Given the description of an element on the screen output the (x, y) to click on. 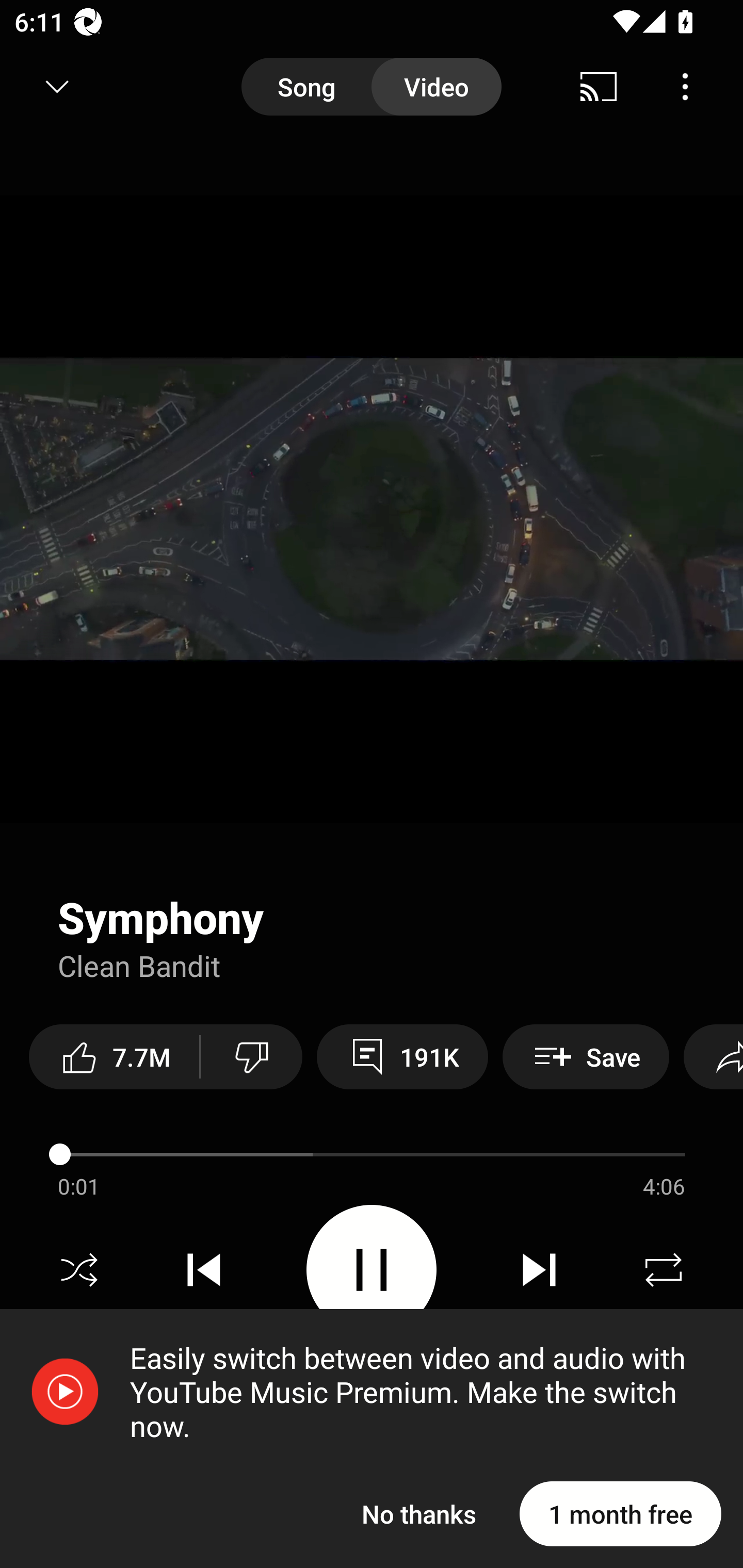
Search back (43, 86)
Cast. Disconnected (598, 86)
Menu (684, 86)
Dislike (251, 1056)
191K View 191,092 comments (402, 1056)
Save Save to playlist (585, 1056)
Share (713, 1056)
Pause video (371, 1269)
Shuffle off (79, 1269)
Previous track (203, 1269)
Next track (538, 1269)
Repeat off (663, 1269)
Up next UP NEXT Lyrics LYRICS Related RELATED (371, 1491)
No thanks (418, 1513)
1 month free (620, 1513)
